Given the description of an element on the screen output the (x, y) to click on. 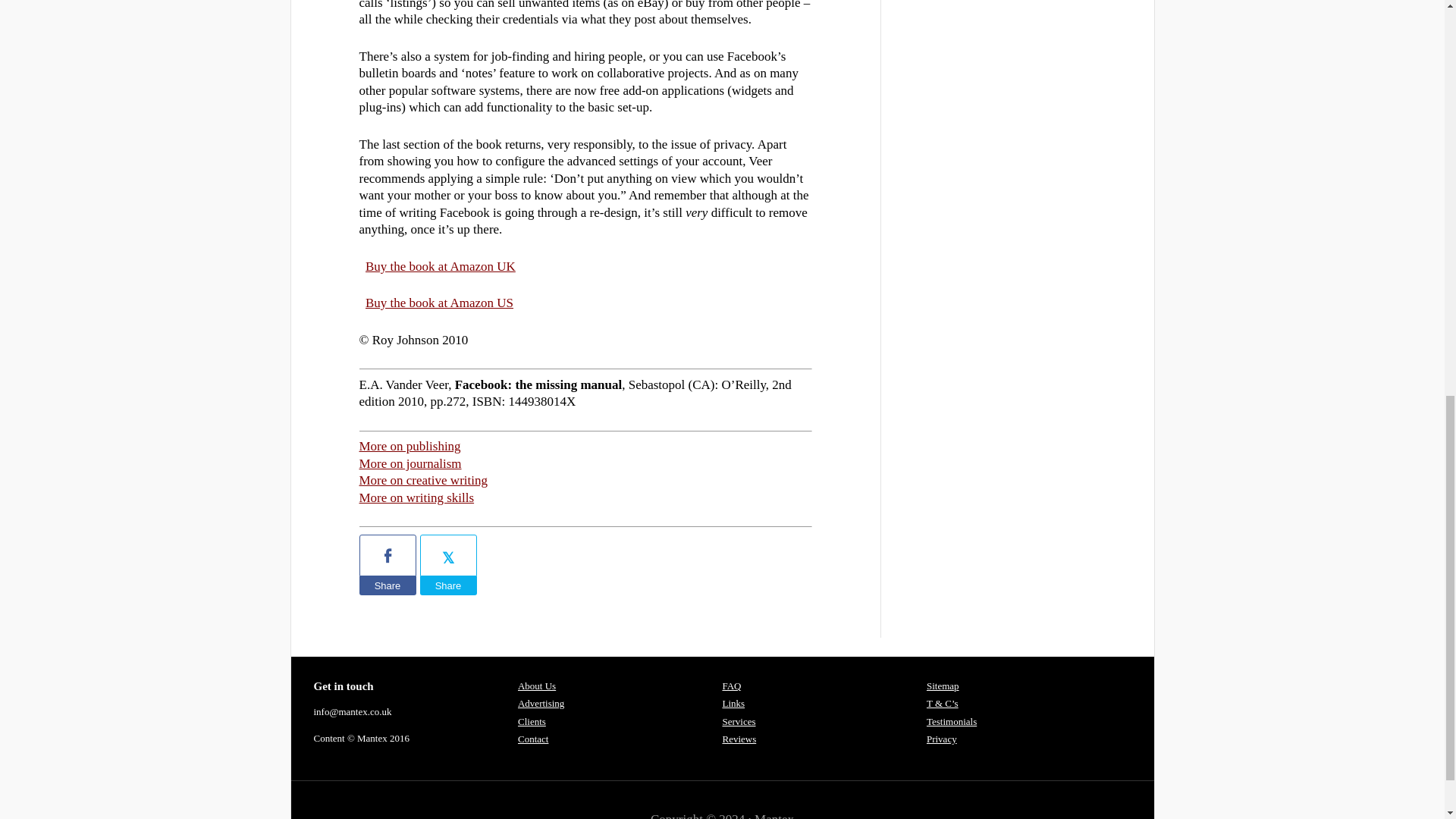
Reviews (738, 738)
More on publishing (410, 445)
Advertising (541, 703)
Contact (533, 738)
Links (733, 703)
Share (448, 585)
FAQ (731, 685)
Clients (532, 721)
Buy the book at Amazon US (439, 302)
Sitemap (942, 685)
